Given the description of an element on the screen output the (x, y) to click on. 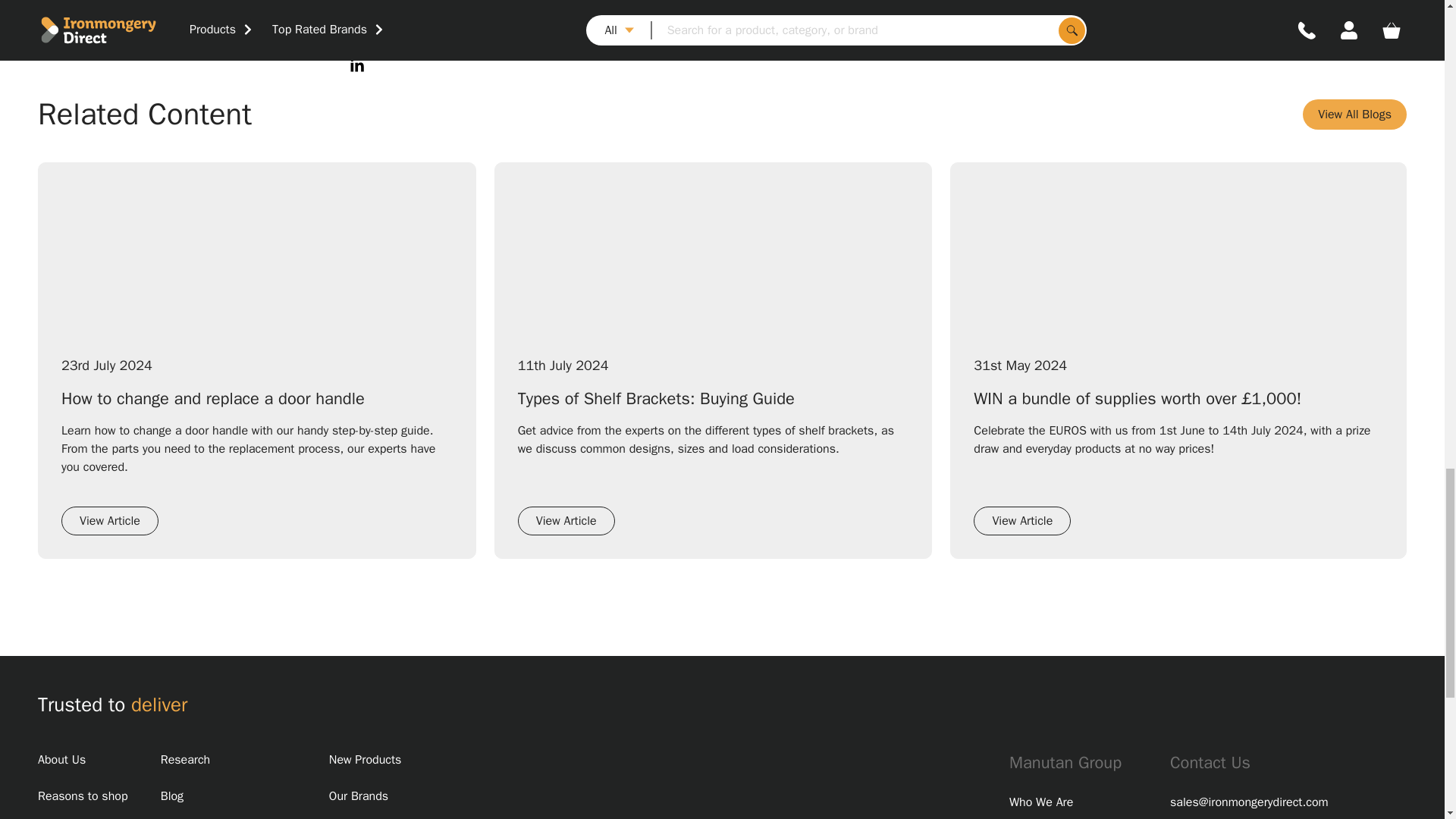
inheriting a family firm (906, 19)
social media marketing (767, 19)
